Given the description of an element on the screen output the (x, y) to click on. 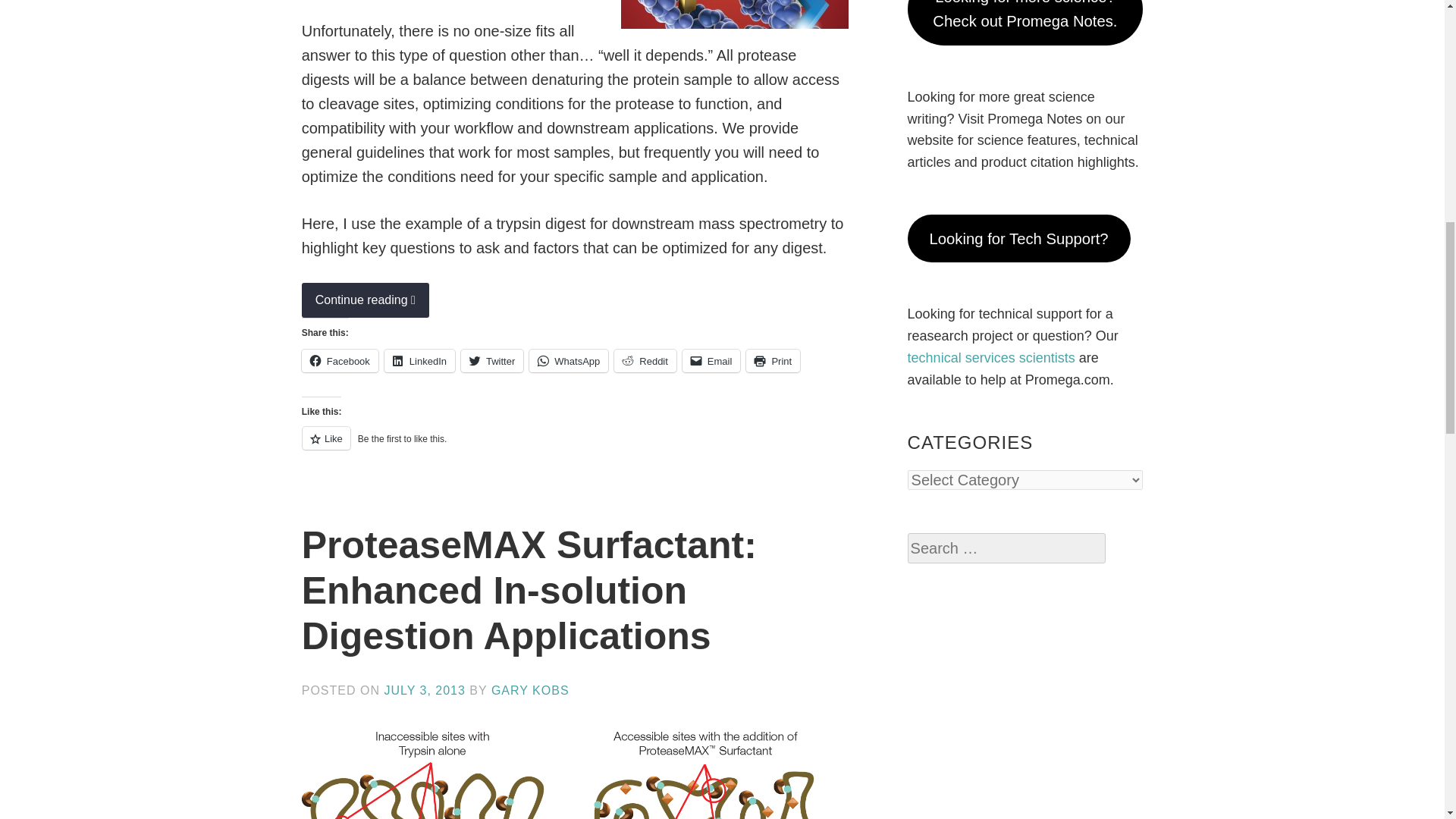
Click to share on WhatsApp (568, 360)
Click to share on Twitter (491, 360)
Click to share on LinkedIn (419, 360)
WhatsApp (568, 360)
LinkedIn (419, 360)
Click to print (772, 360)
Click to share on Facebook (339, 360)
Click to share on Reddit (645, 360)
Like or Reblog (574, 446)
Facebook (339, 360)
Click to email a link to a friend (711, 360)
Twitter (491, 360)
Continue reading (365, 299)
